Given the description of an element on the screen output the (x, y) to click on. 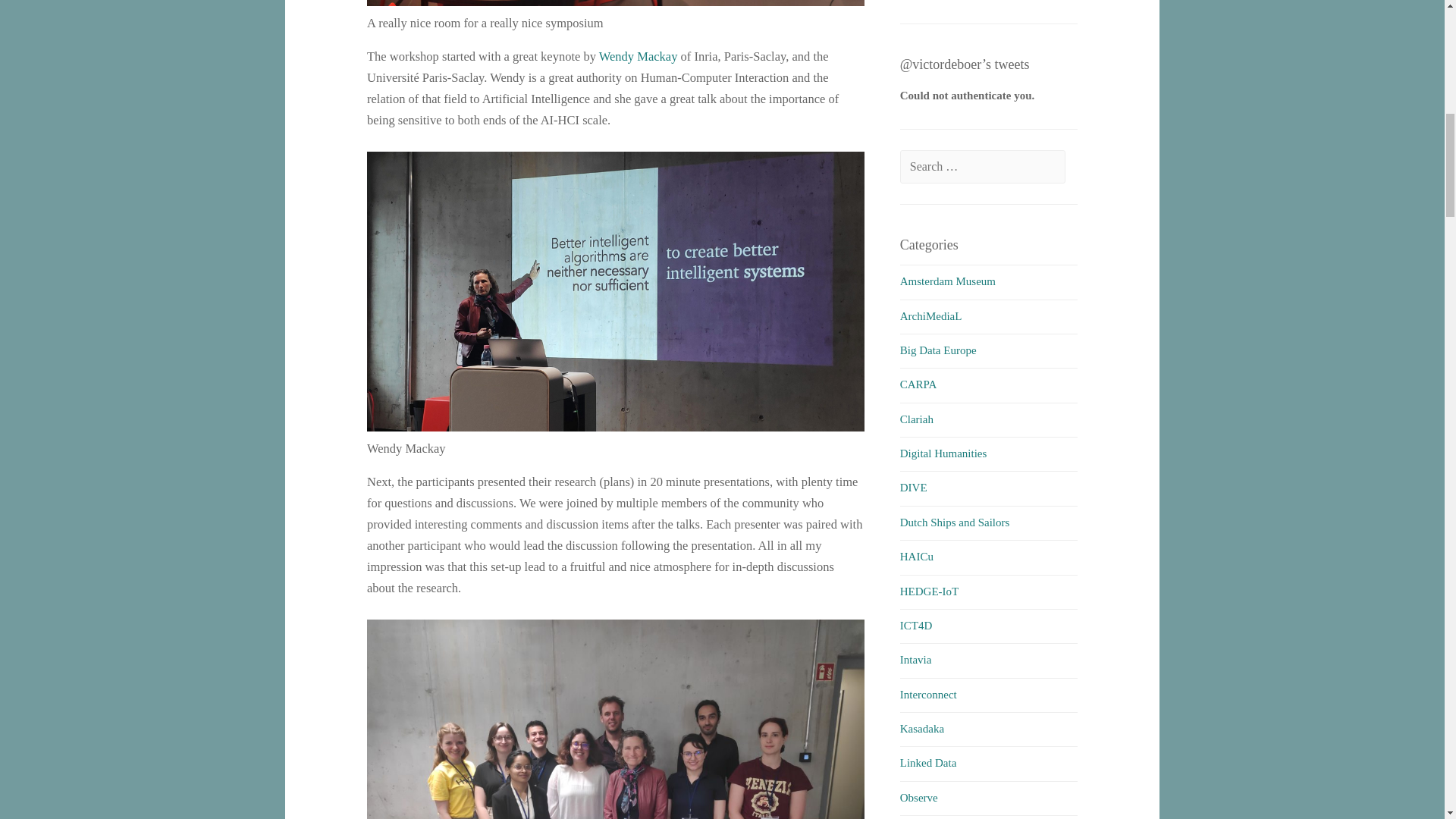
Wendy Mackay (638, 56)
